Given the description of an element on the screen output the (x, y) to click on. 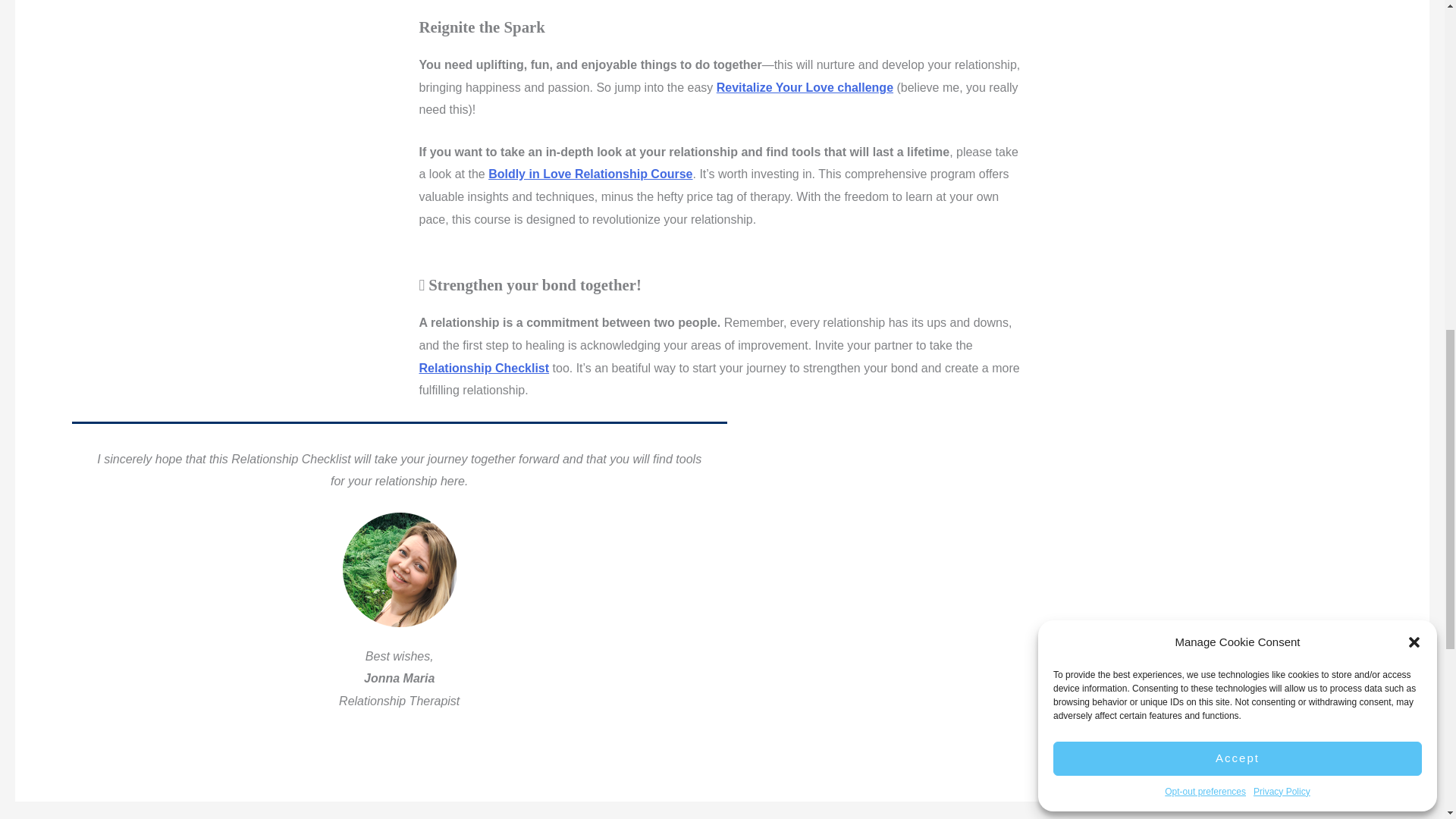
Discover the Key to a Thriving Relationship (804, 87)
Revitalize Your Love challenge (804, 87)
Boldly in Love Relationship Course (590, 173)
The relationship Checklist (483, 367)
Boldly in Love Relationship Course (590, 173)
Relationship Checklist (483, 367)
